Given the description of an element on the screen output the (x, y) to click on. 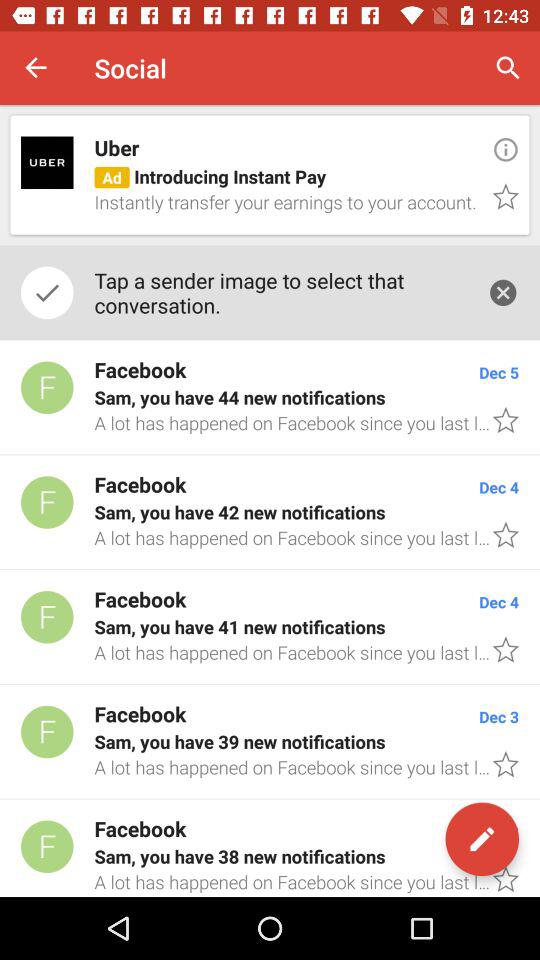
turn off the item above the uber icon (508, 67)
